Given the description of an element on the screen output the (x, y) to click on. 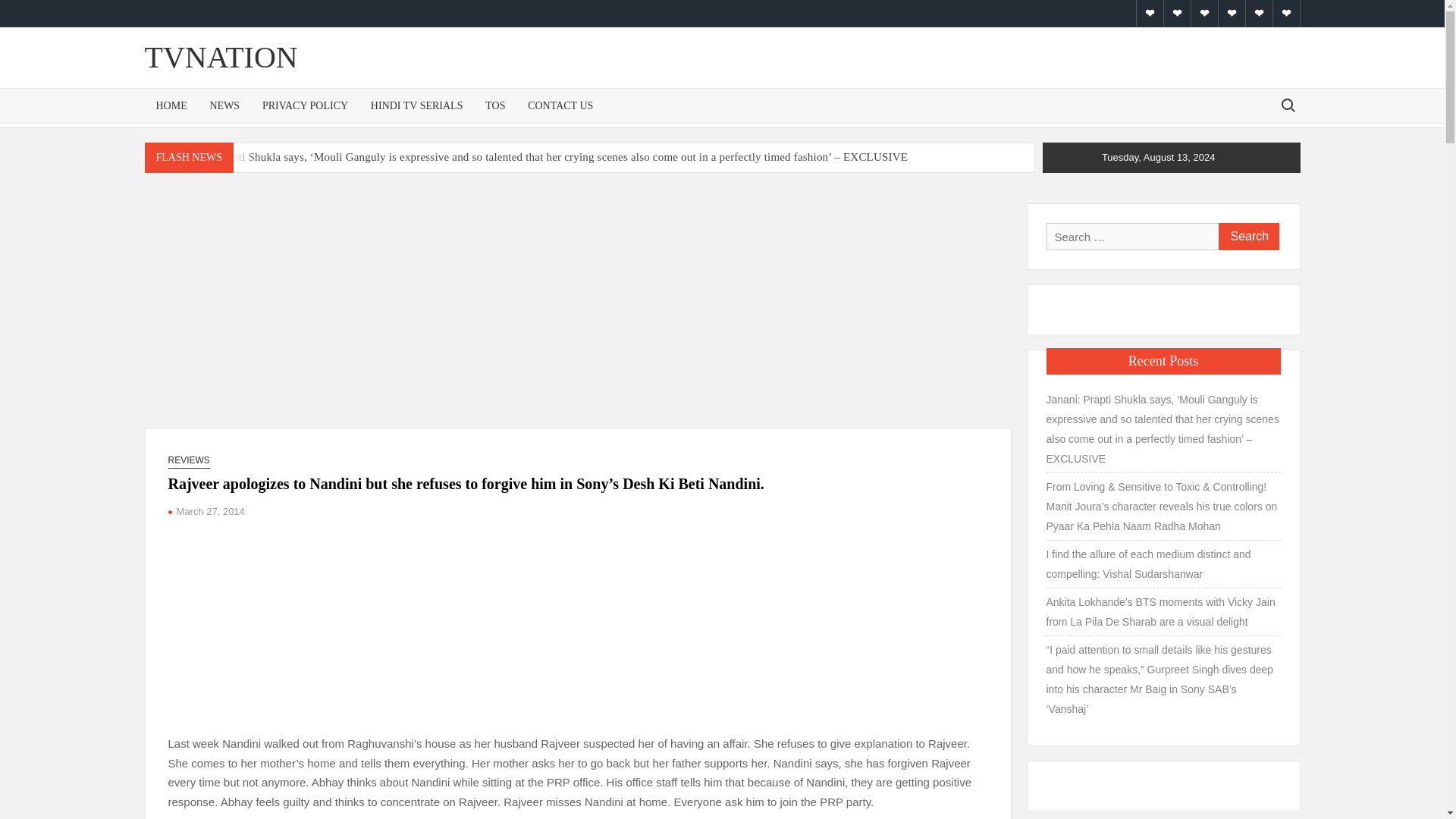
TVNATION (220, 57)
Search for: (1287, 104)
PRIVACY POLICY (304, 105)
Search (1247, 236)
TOS (495, 105)
CONTACT US (560, 105)
HINDI TV SERIALS (416, 105)
NEWS (224, 105)
Search (1247, 236)
HOME (171, 105)
